Given the description of an element on the screen output the (x, y) to click on. 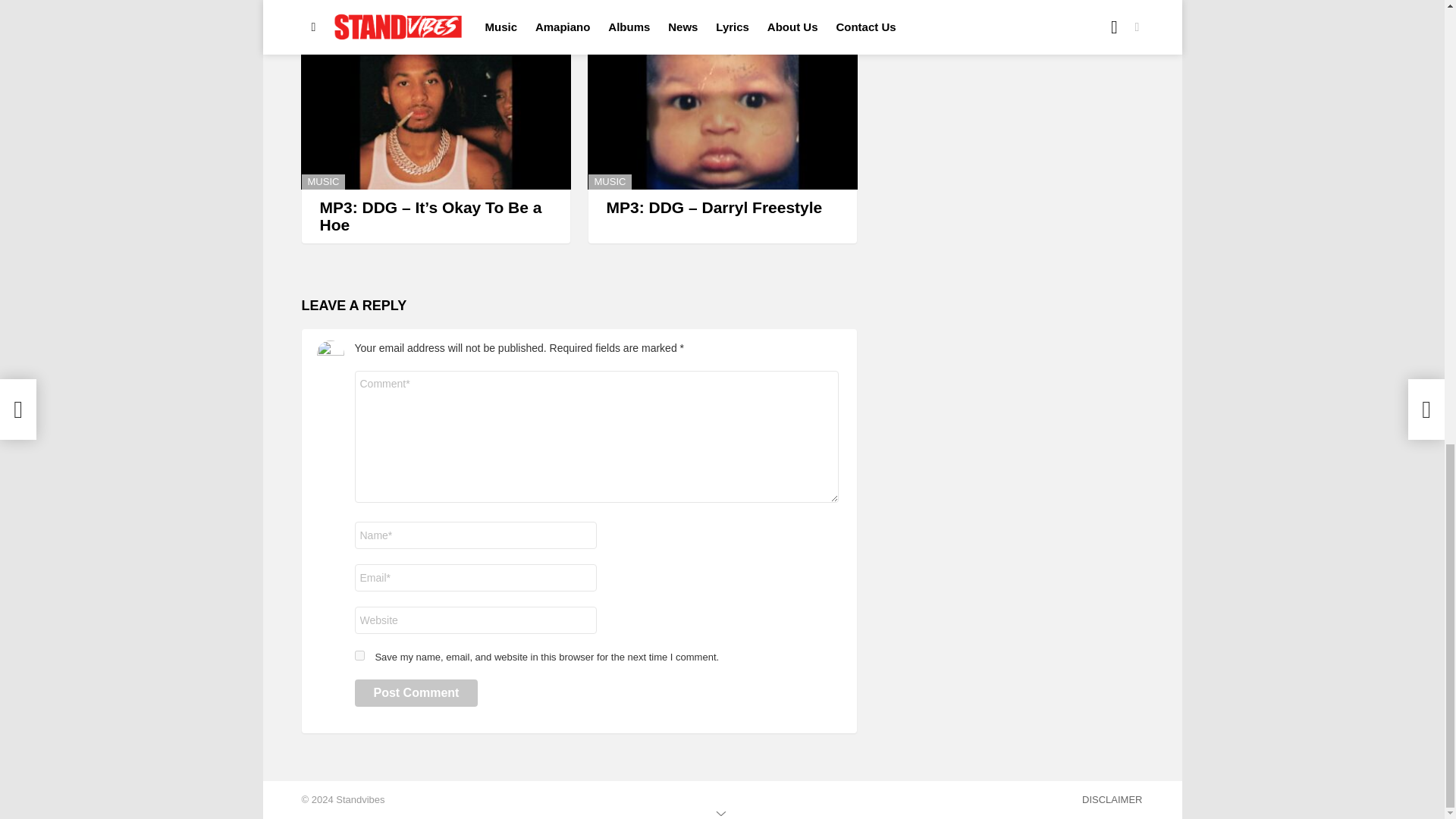
MUSIC (609, 181)
Post Comment (417, 692)
Post Comment (417, 692)
yes (360, 655)
MUSIC (323, 181)
